Given the description of an element on the screen output the (x, y) to click on. 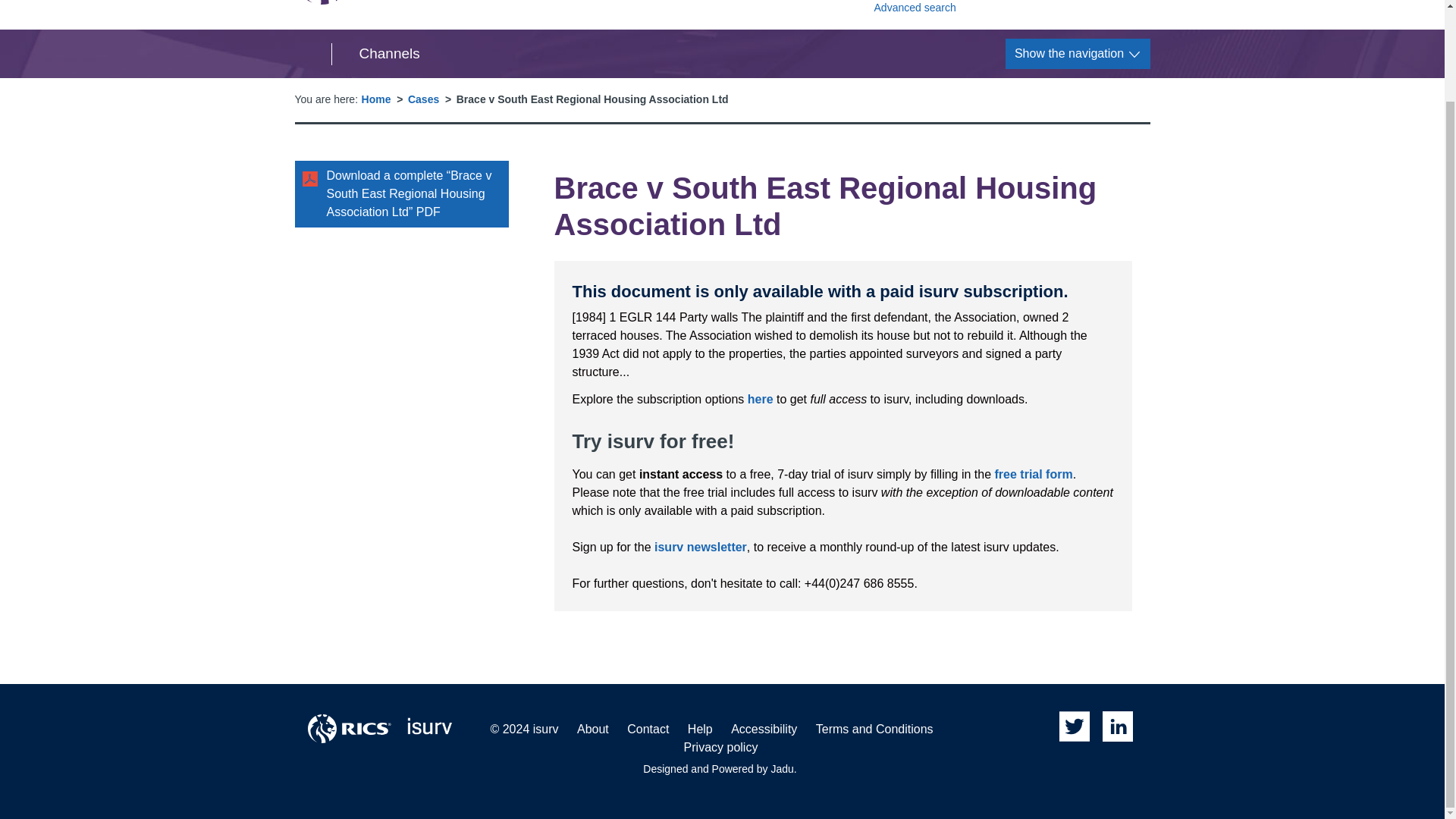
RICS (349, 728)
free trial form (1033, 473)
Show the navigation (1078, 53)
Cases (417, 2)
Advanced search (423, 99)
isurv newsletter (1012, 7)
here (699, 546)
Channels (760, 399)
Home (374, 54)
